Given the description of an element on the screen output the (x, y) to click on. 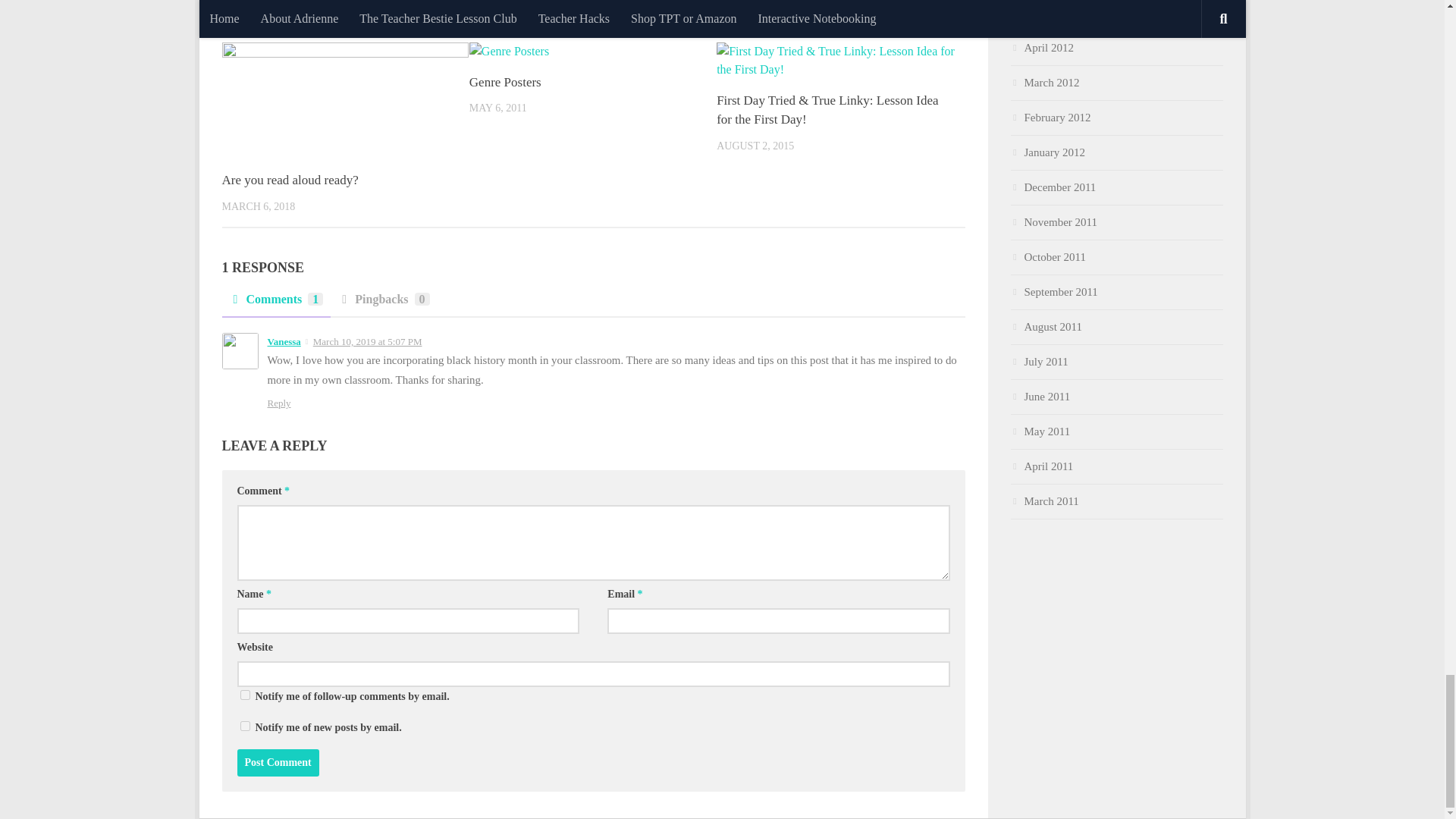
subscribe (244, 695)
Are you read aloud ready? (289, 179)
Genre Posters (504, 82)
subscribe (244, 726)
Post Comment (276, 762)
